Given the description of an element on the screen output the (x, y) to click on. 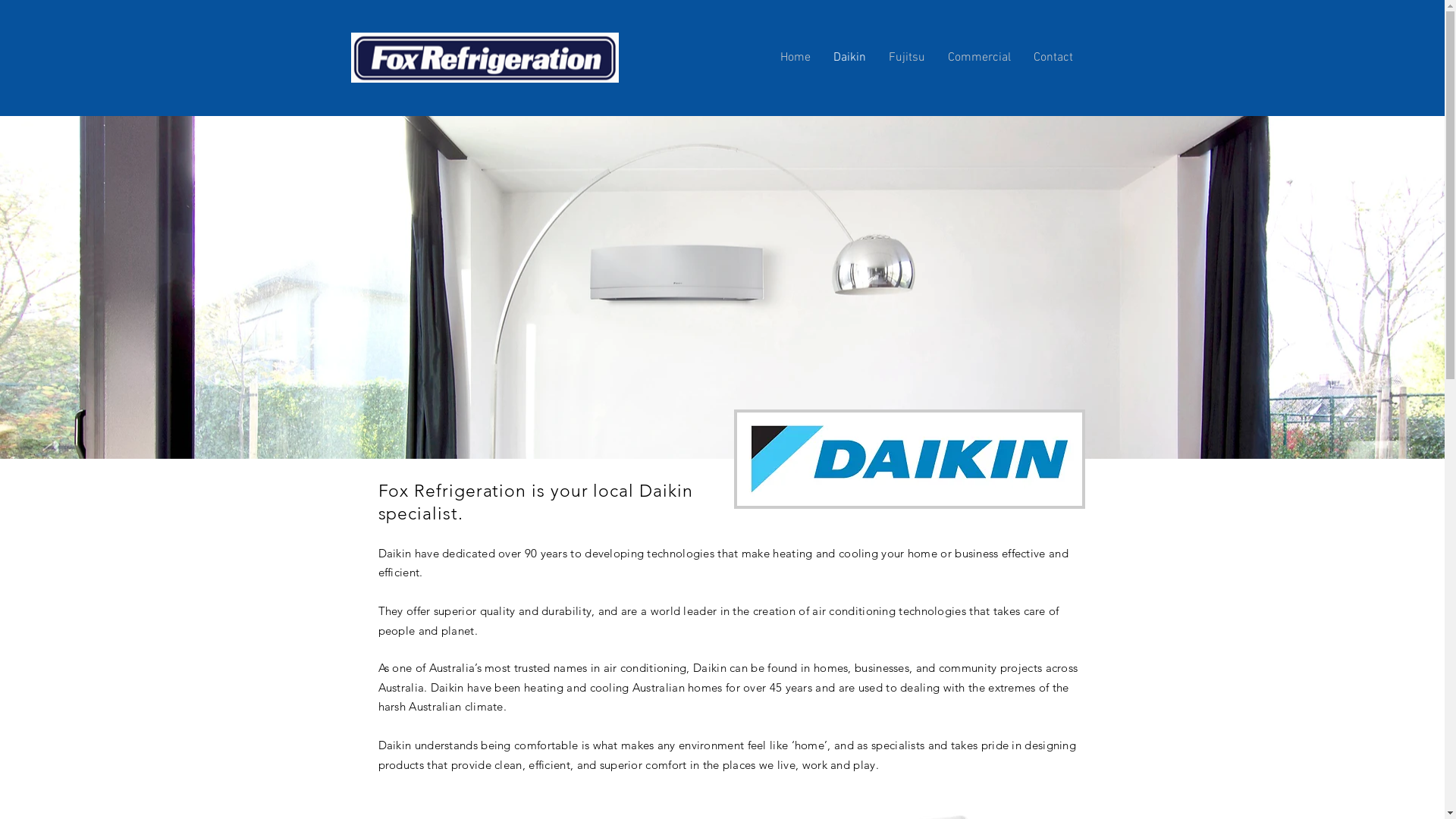
Fujitsu Element type: text (905, 57)
Daikin Element type: text (849, 57)
Commercial Element type: text (978, 57)
Home Element type: text (795, 57)
Contact Element type: text (1053, 57)
